Given the description of an element on the screen output the (x, y) to click on. 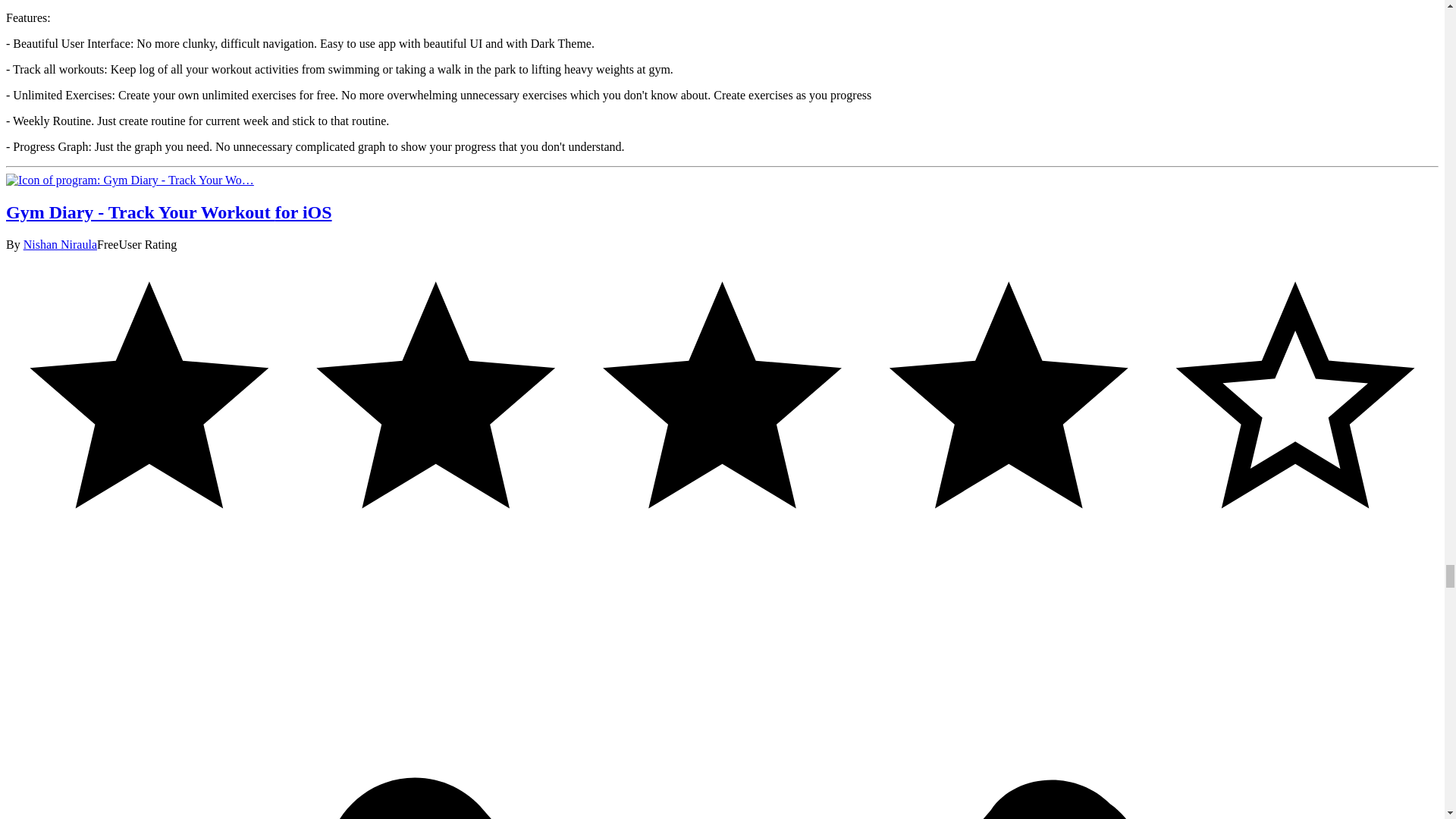
Gym Diary - Track Your Workout for iOS (129, 179)
